Given the description of an element on the screen output the (x, y) to click on. 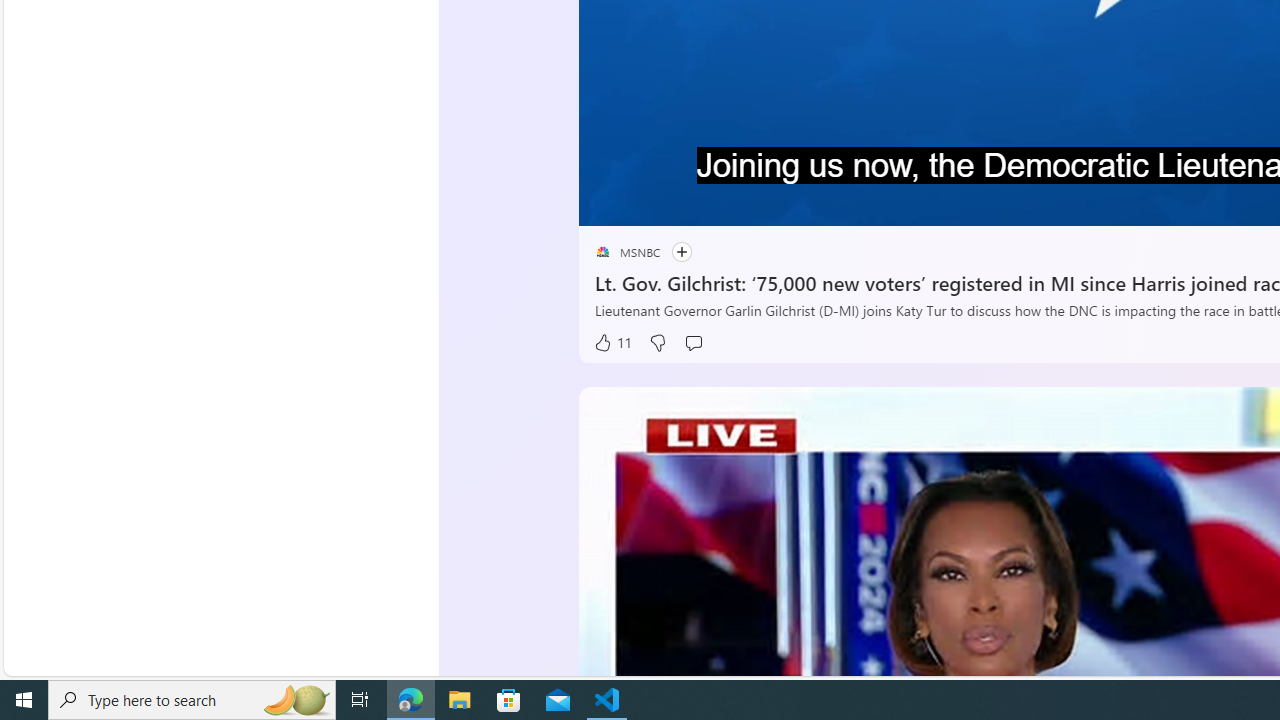
Seek Forward (688, 203)
placeholder (601, 252)
Seek Back (648, 203)
11 Like (611, 343)
placeholder MSNBC (626, 252)
Pause (607, 203)
Follow (671, 251)
